Given the description of an element on the screen output the (x, y) to click on. 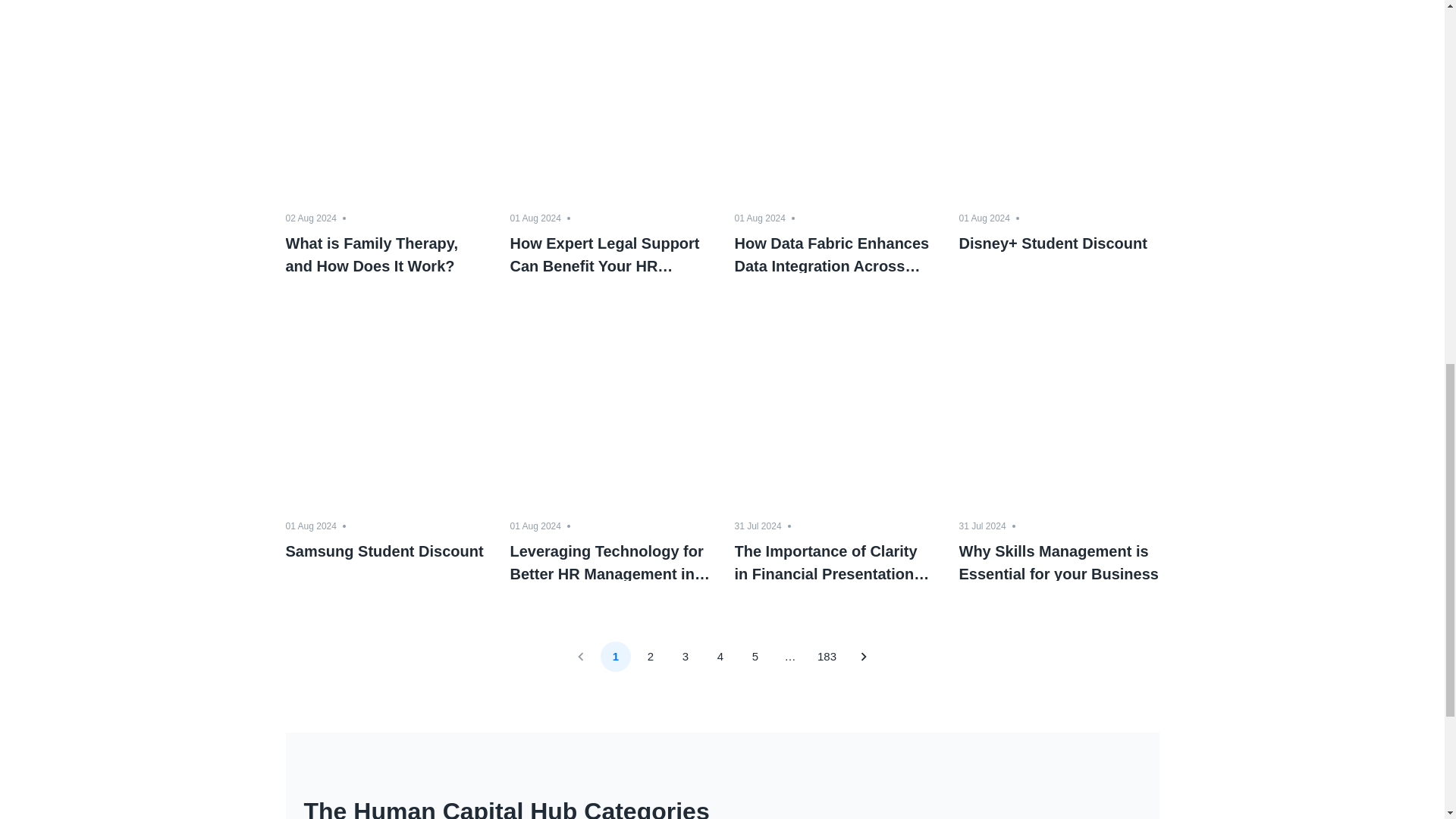
What is Family Therapy, and How Does It Work? (384, 251)
Samsung Student Discount (384, 559)
4 (719, 656)
5 (754, 656)
How Data Fabric Enhances Data Integration Across Enterprises (833, 251)
How Expert Legal Support Can Benefit Your HR Department (609, 251)
Why Skills Management is Essential for your Business (1058, 559)
3 (684, 656)
183 (826, 656)
1 (614, 656)
2 (649, 656)
